Given the description of an element on the screen output the (x, y) to click on. 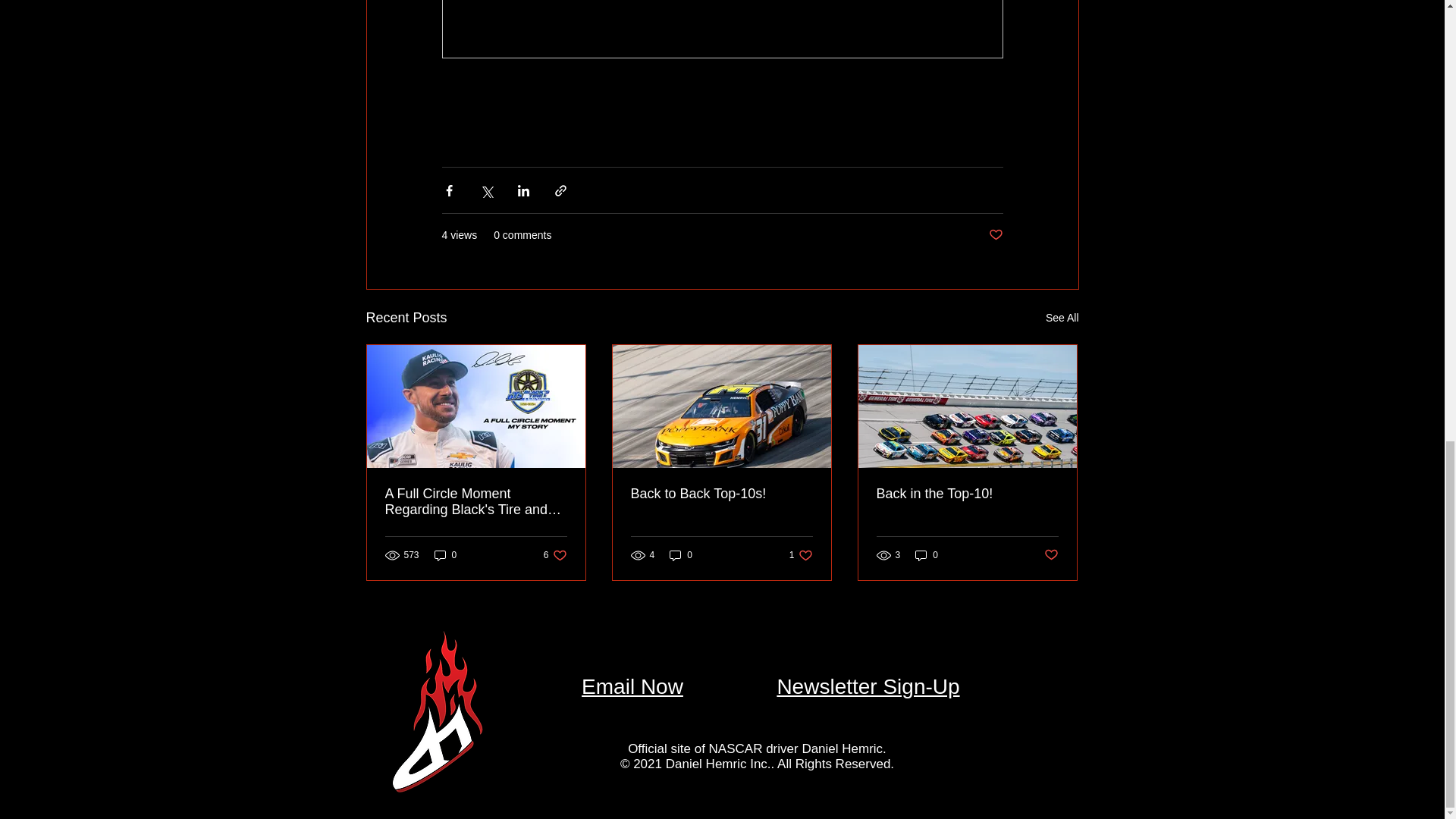
0 (445, 554)
Newsletter Sign-Up (867, 686)
Email Now (631, 686)
Post not marked as liked (1050, 555)
Post not marked as liked (995, 235)
0 (681, 554)
See All (800, 554)
Back to Back Top-10s! (1061, 318)
Back in the Top-10! (555, 554)
0 (721, 494)
